Given the description of an element on the screen output the (x, y) to click on. 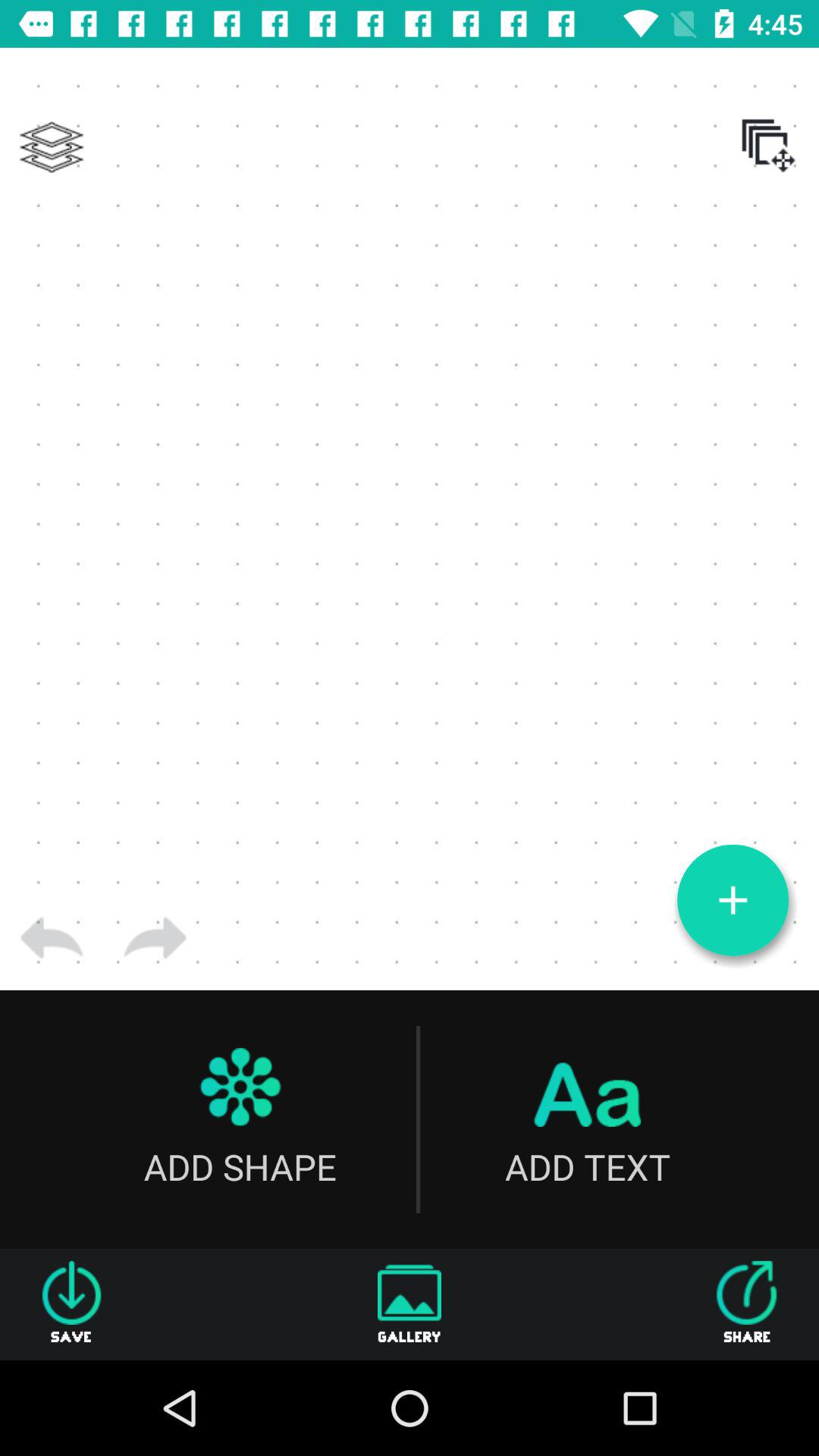
select the icon next to gallery (747, 1304)
